Given the description of an element on the screen output the (x, y) to click on. 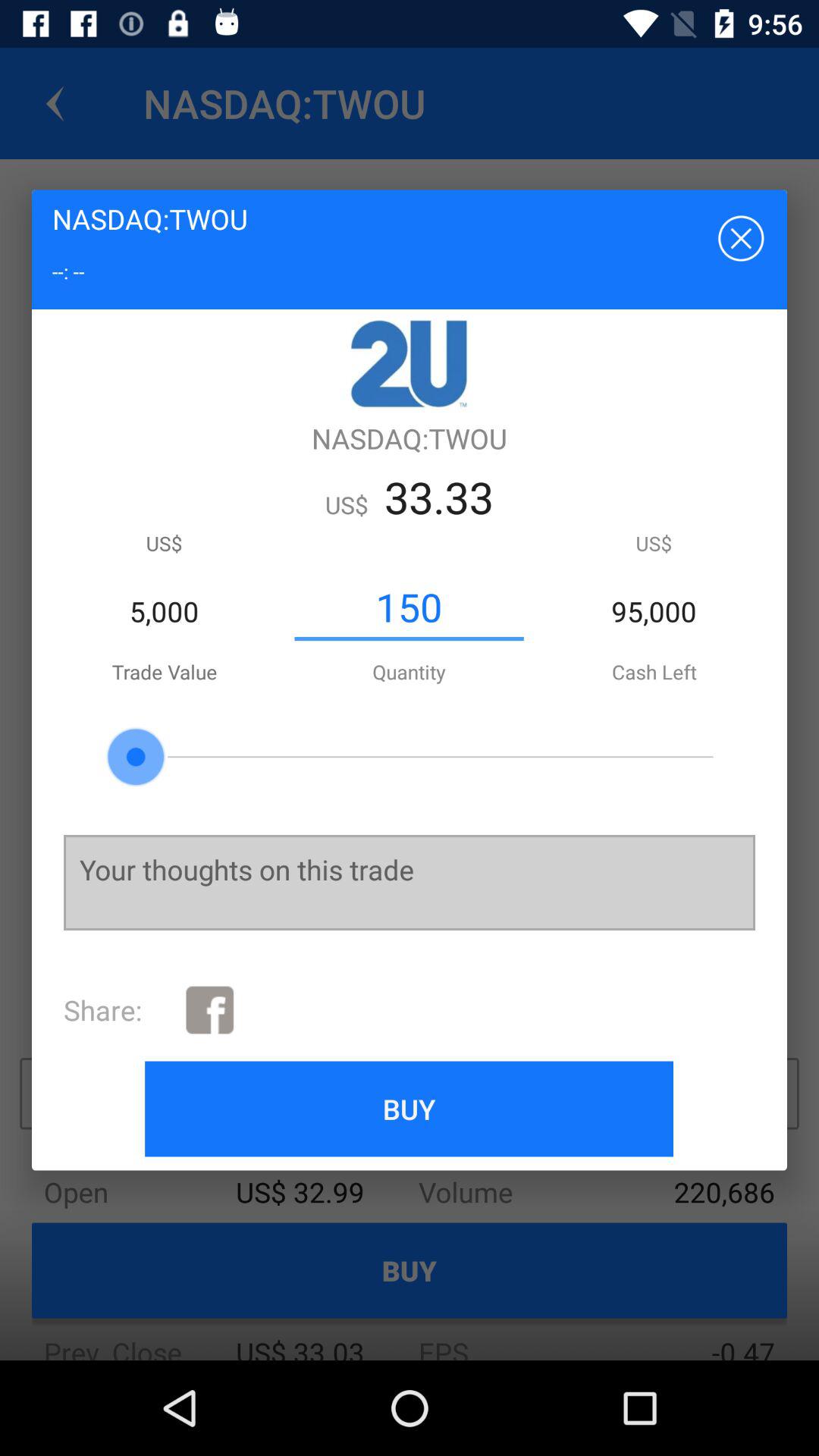
choose the 150 (408, 607)
